Given the description of an element on the screen output the (x, y) to click on. 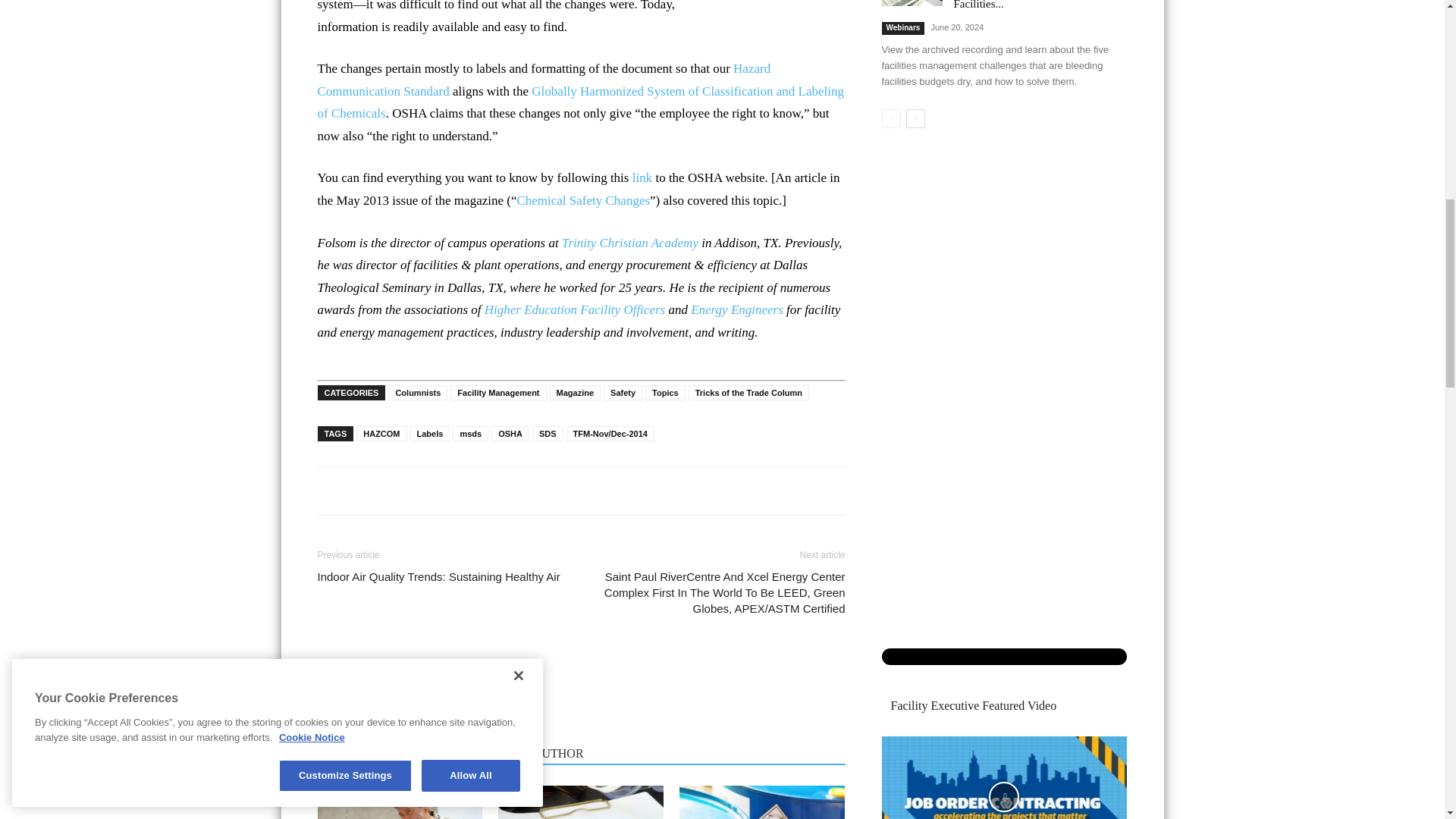
3rd party ad content (721, 38)
